Given the description of an element on the screen output the (x, y) to click on. 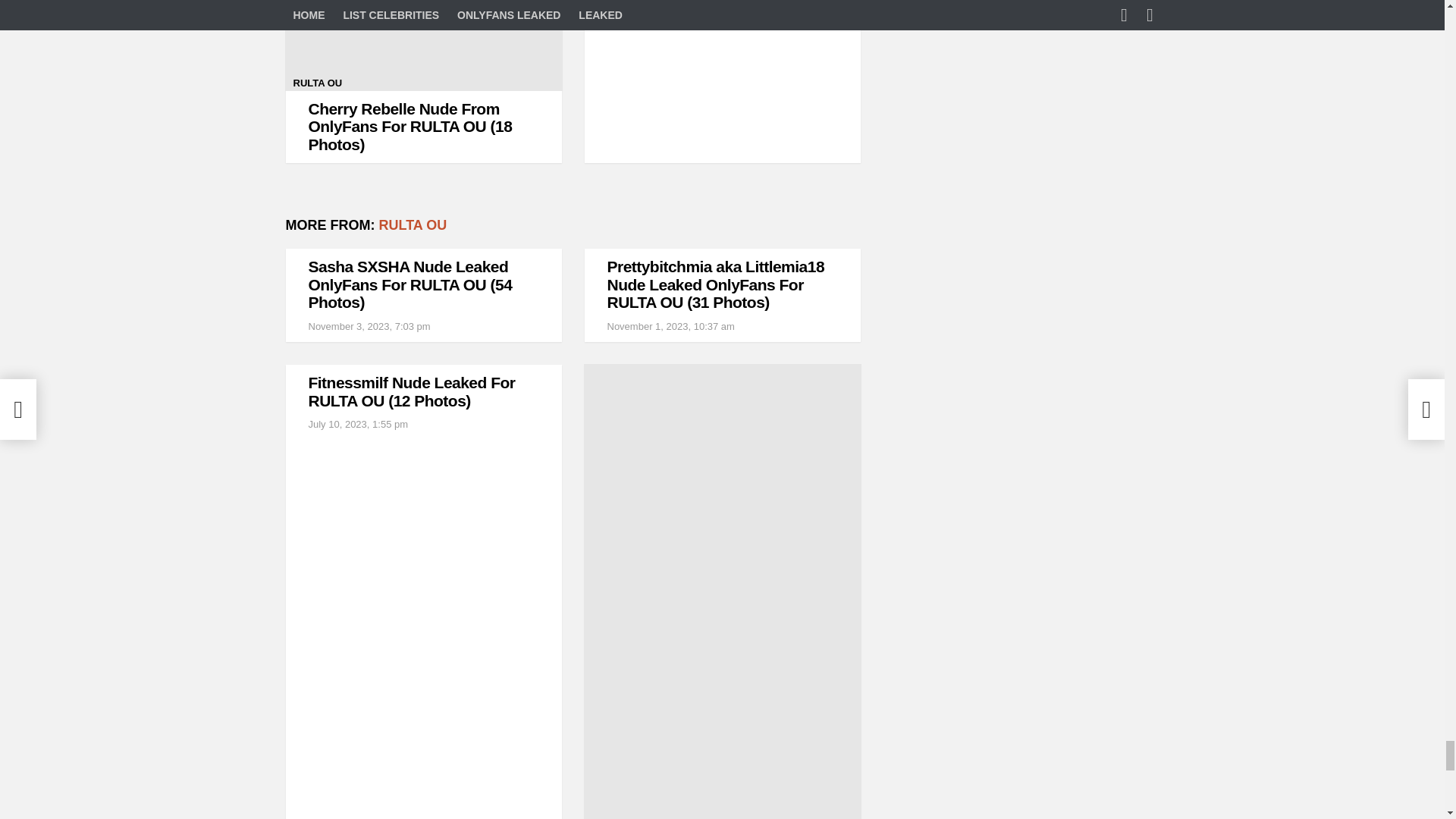
RULTA OU (317, 83)
RULTA OU (412, 224)
